Given the description of an element on the screen output the (x, y) to click on. 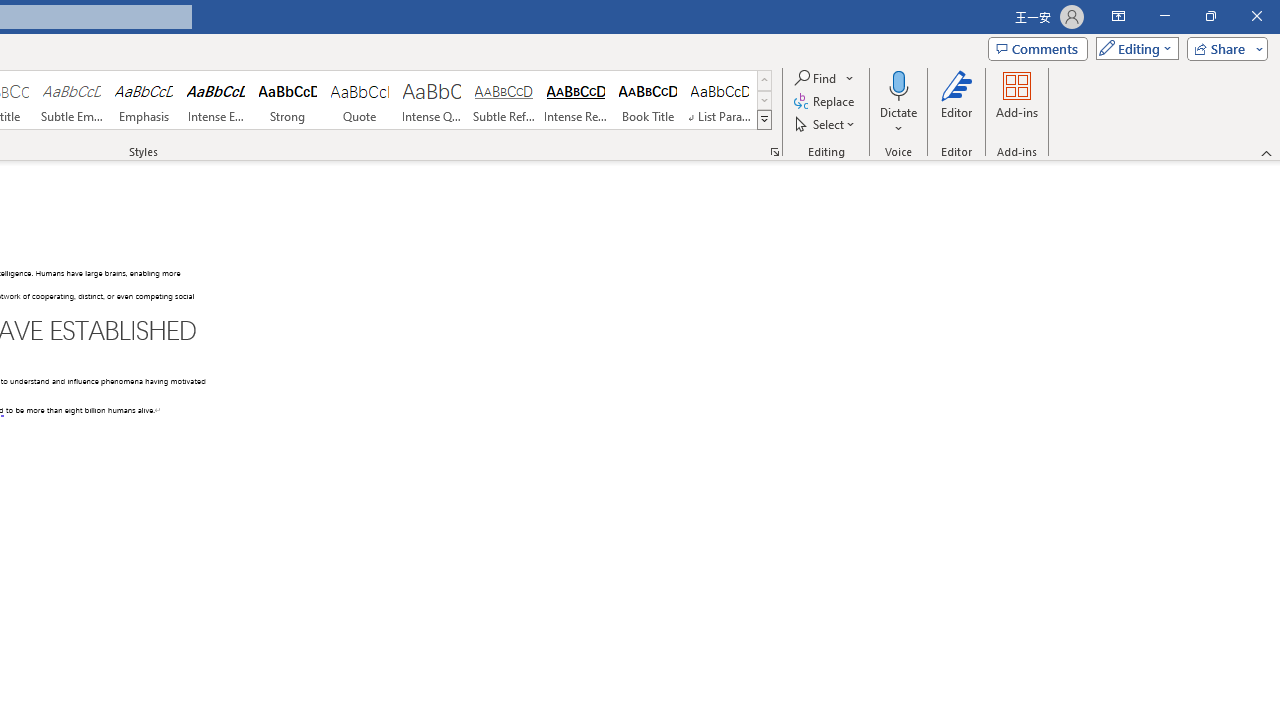
Subtle Emphasis (71, 100)
